Given the description of an element on the screen output the (x, y) to click on. 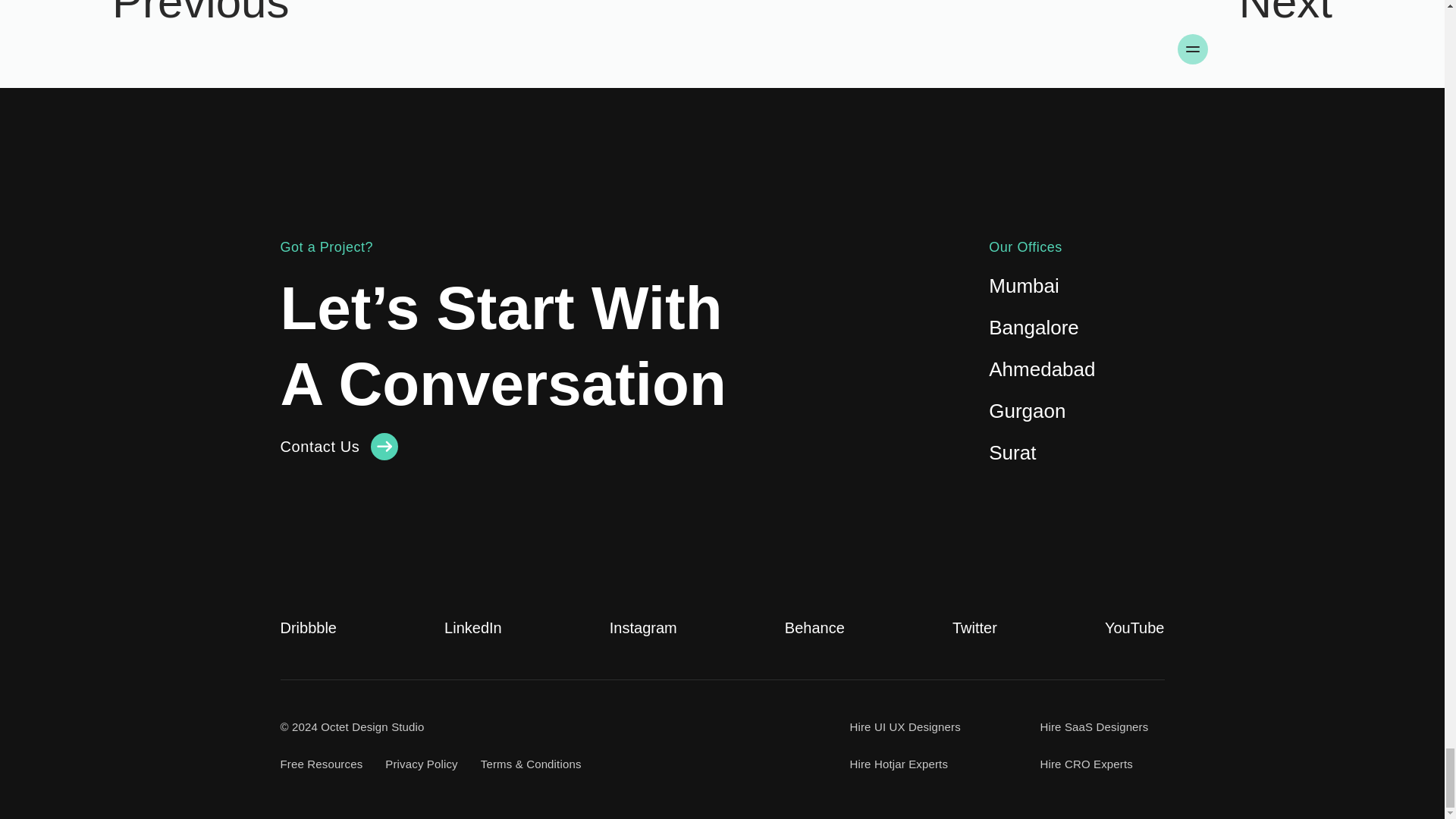
Behance (814, 627)
Surat (1011, 452)
Dribbble (308, 627)
Contact Us (339, 446)
Dribbble (308, 627)
Instagram (643, 627)
Ahmedabad (1041, 368)
Previous (361, 43)
Mumbai (1023, 285)
YouTube (1134, 627)
Mumbai (1023, 285)
Contact Us (339, 446)
Gurgaon (1026, 410)
Ahmedabad (1041, 368)
Bangalore (1033, 327)
